Given the description of an element on the screen output the (x, y) to click on. 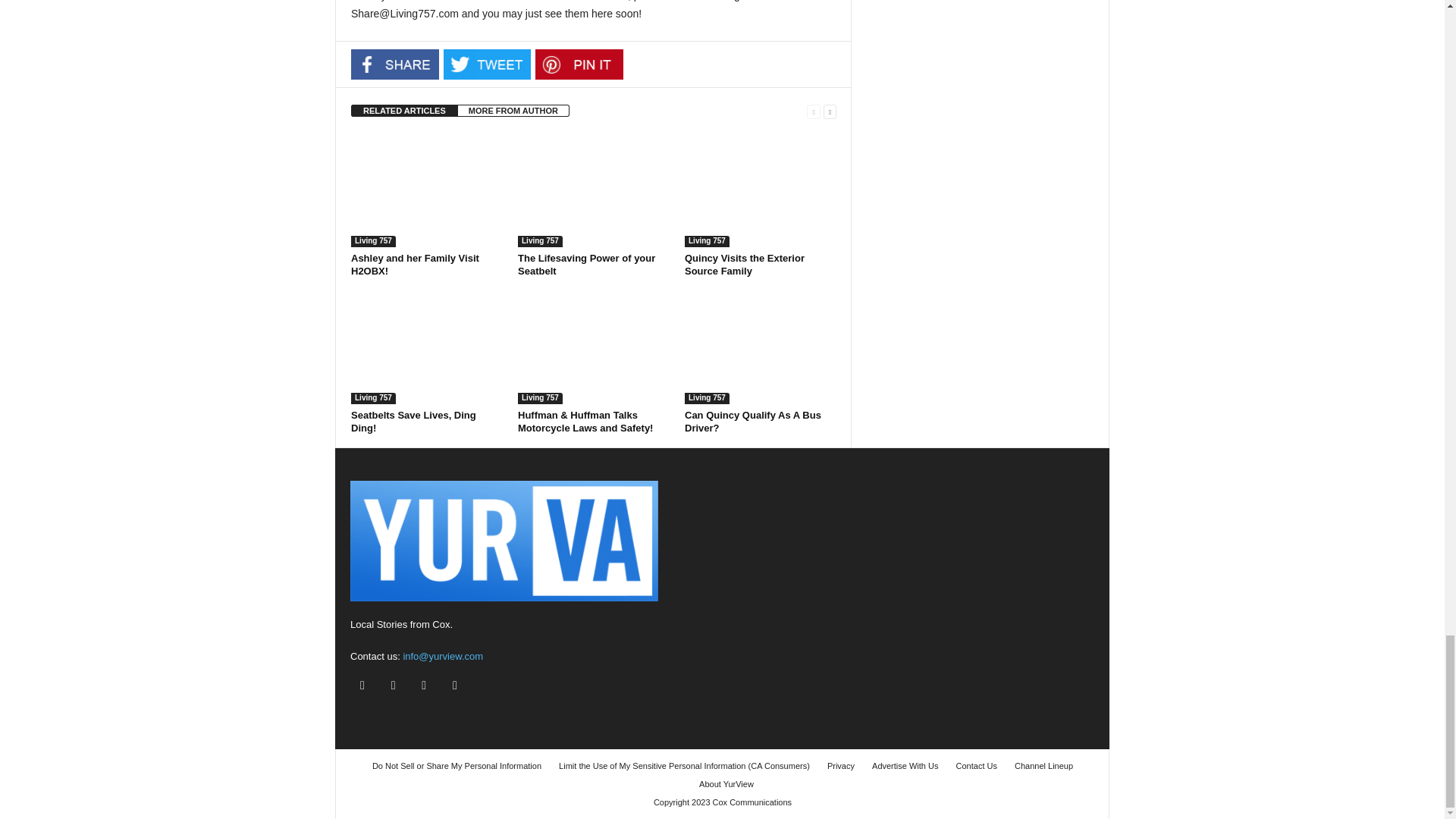
Facebook (394, 64)
Pinterest (579, 64)
Twitter (487, 64)
Ashley and her Family Visit H2OBX! (426, 190)
